Given the description of an element on the screen output the (x, y) to click on. 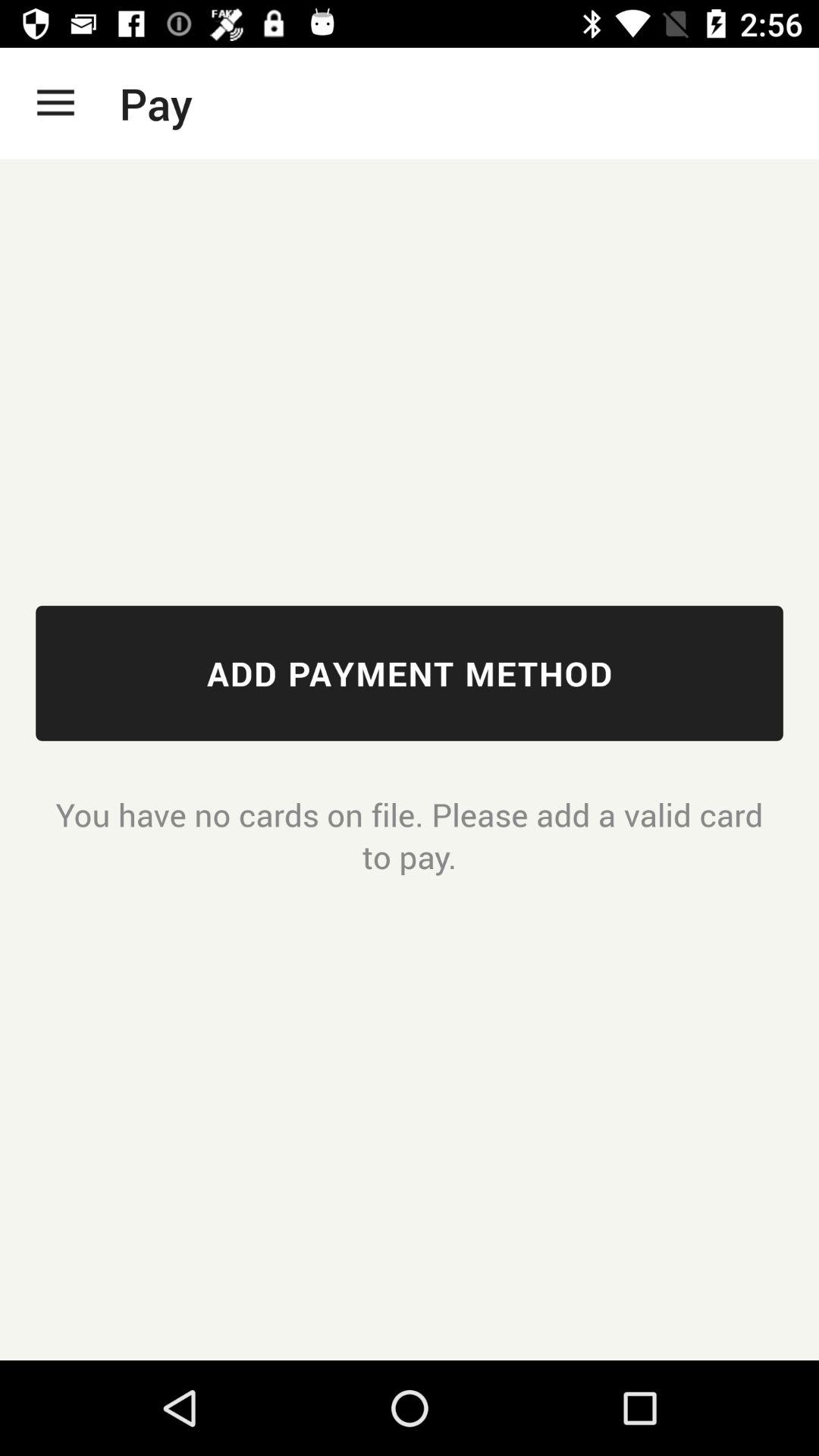
press the icon to the left of the pay app (55, 103)
